Given the description of an element on the screen output the (x, y) to click on. 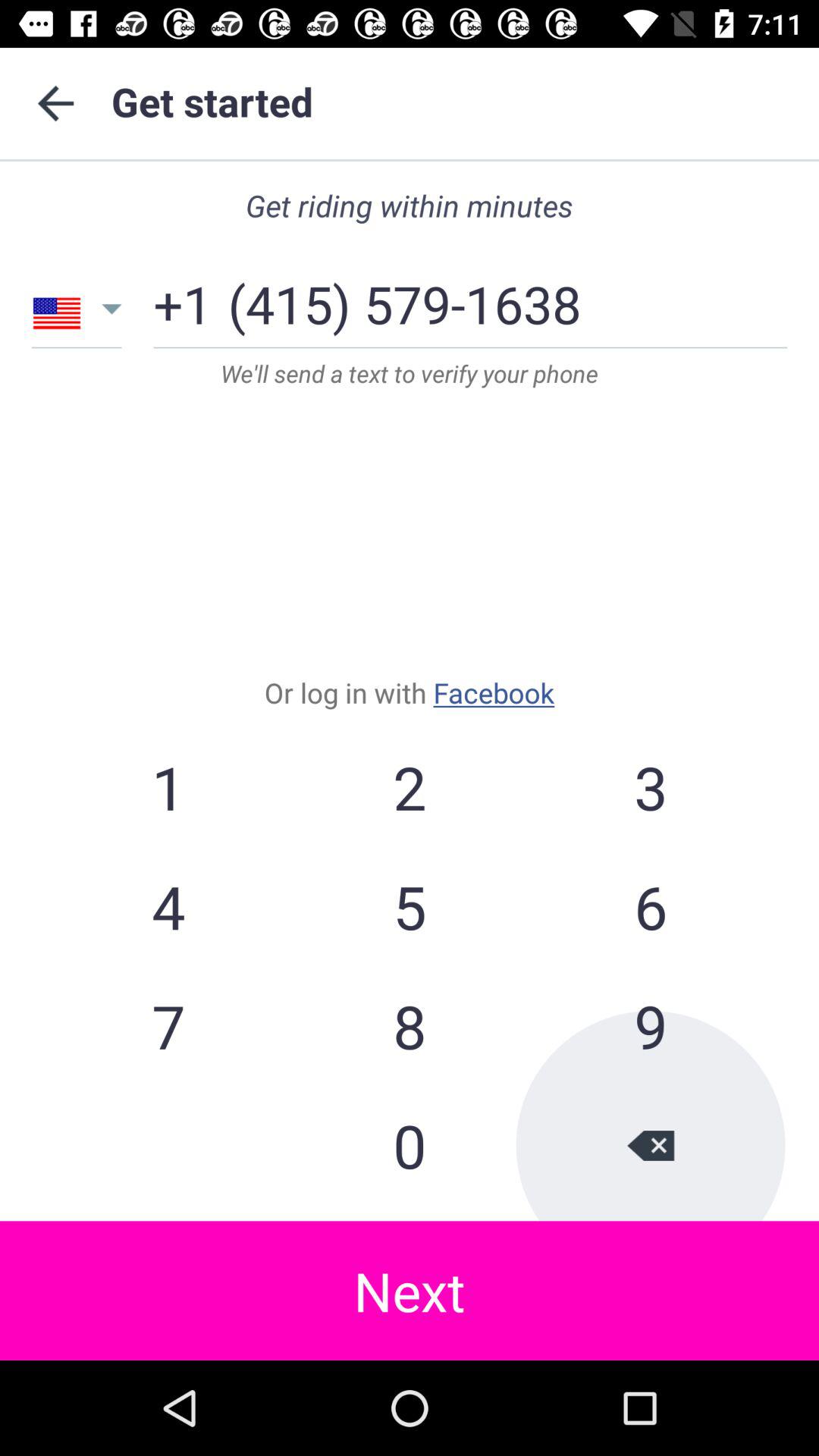
click the item below the 5 icon (650, 1025)
